Given the description of an element on the screen output the (x, y) to click on. 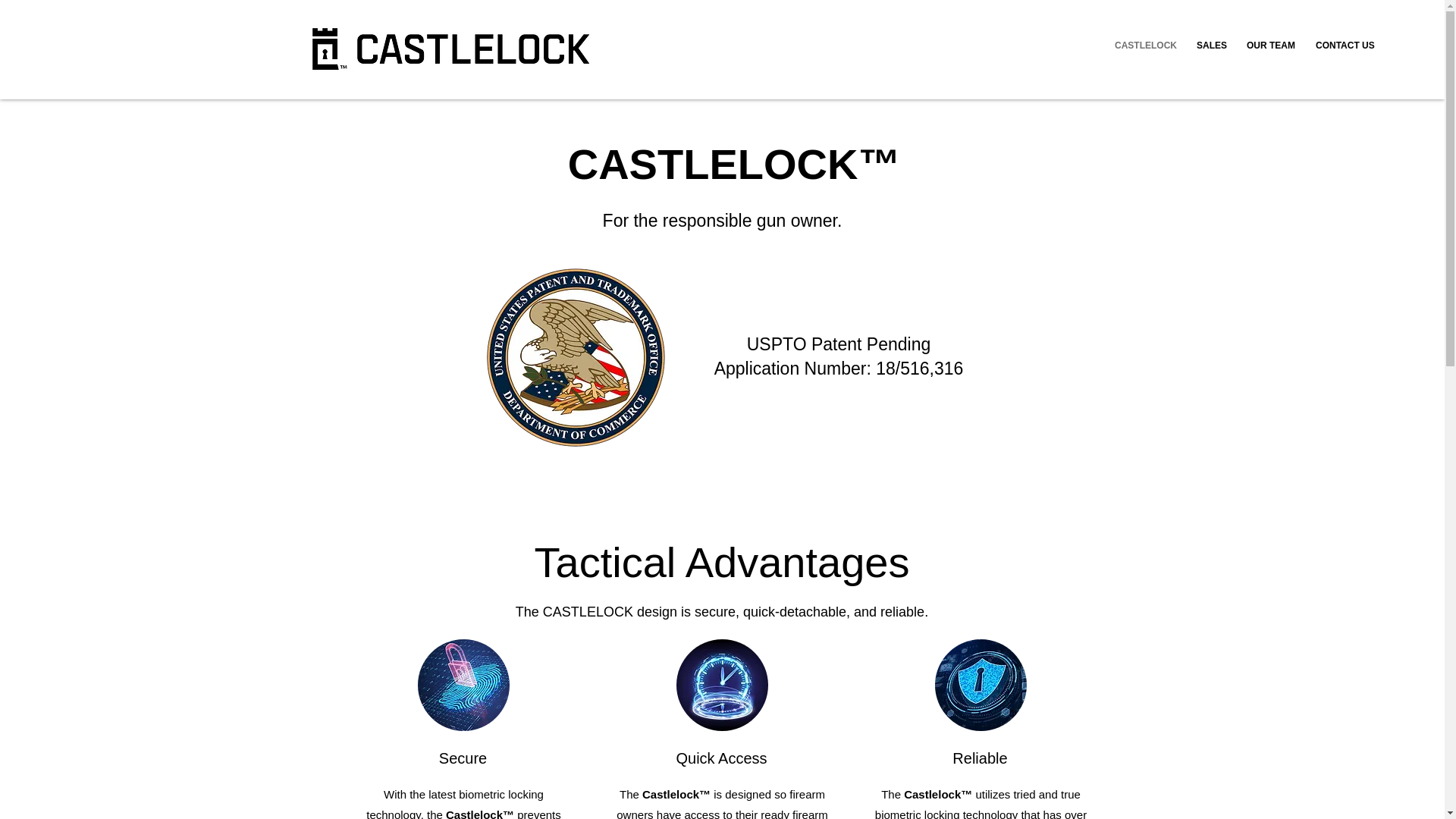
CASTLELOCK (1144, 45)
CONTACT US (1344, 45)
SALES (1209, 45)
OUR TEAM (1269, 45)
